Given the description of an element on the screen output the (x, y) to click on. 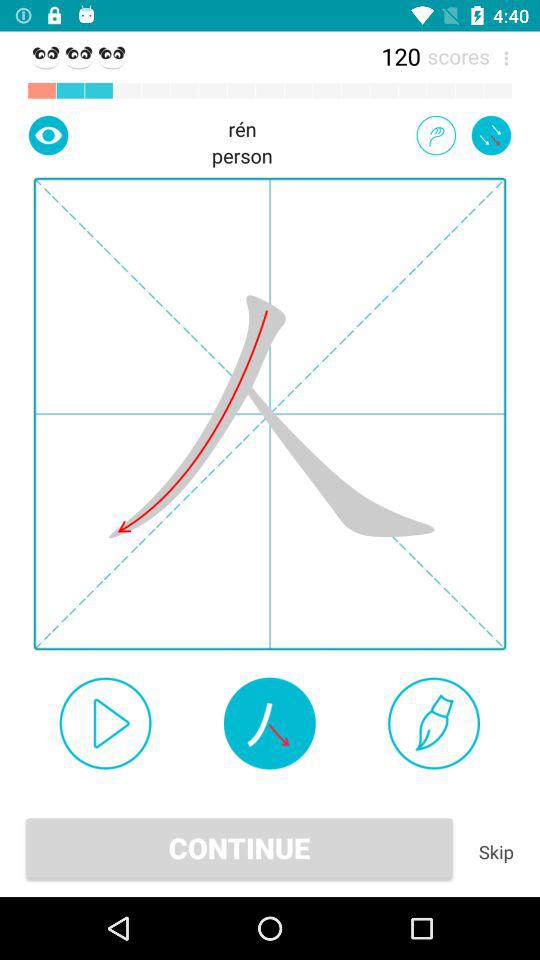
moves element on screen (269, 723)
